Given the description of an element on the screen output the (x, y) to click on. 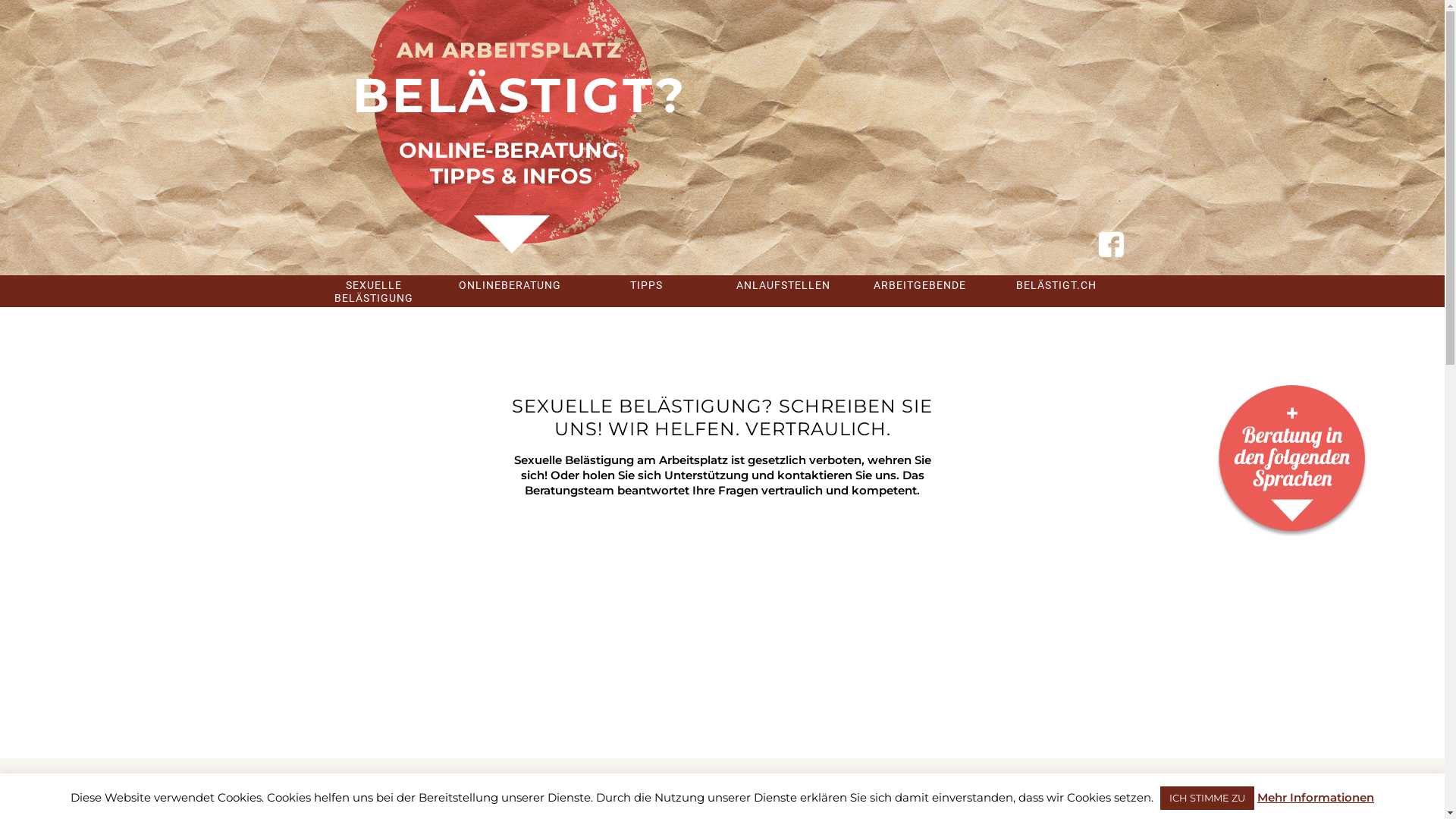
Mehr Informationen Element type: text (1315, 797)
ARBEITGEBENDE Element type: text (919, 283)
ONLINEBERATUNG Element type: text (509, 283)
TIPPS Element type: text (646, 283)
ANLAUFSTELLEN Element type: text (782, 283)
ICH STIMME ZU Element type: text (1207, 797)
